Given the description of an element on the screen output the (x, y) to click on. 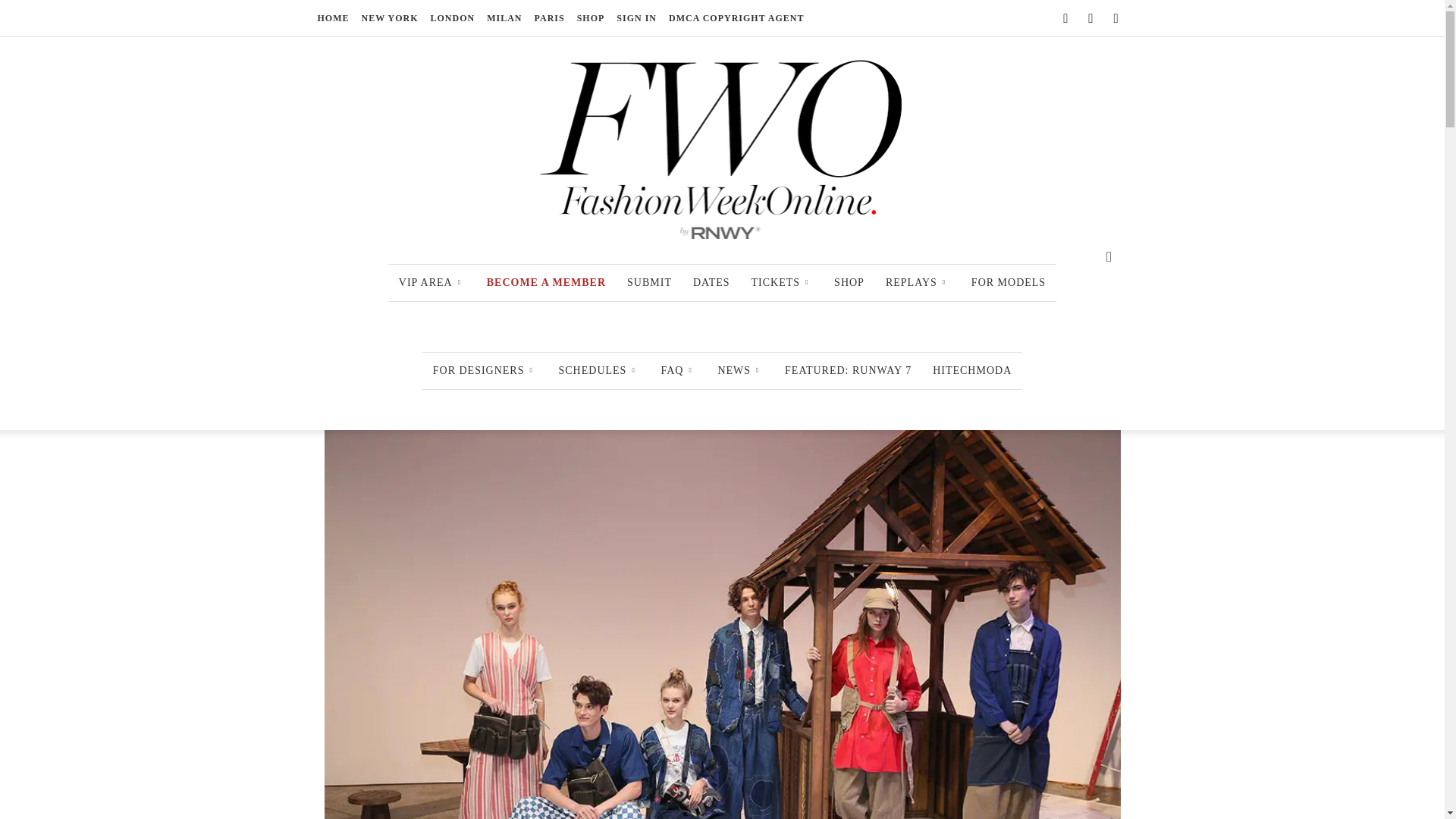
Instagram (1090, 17)
Twitter (1114, 17)
Facebook (1065, 17)
